Given the description of an element on the screen output the (x, y) to click on. 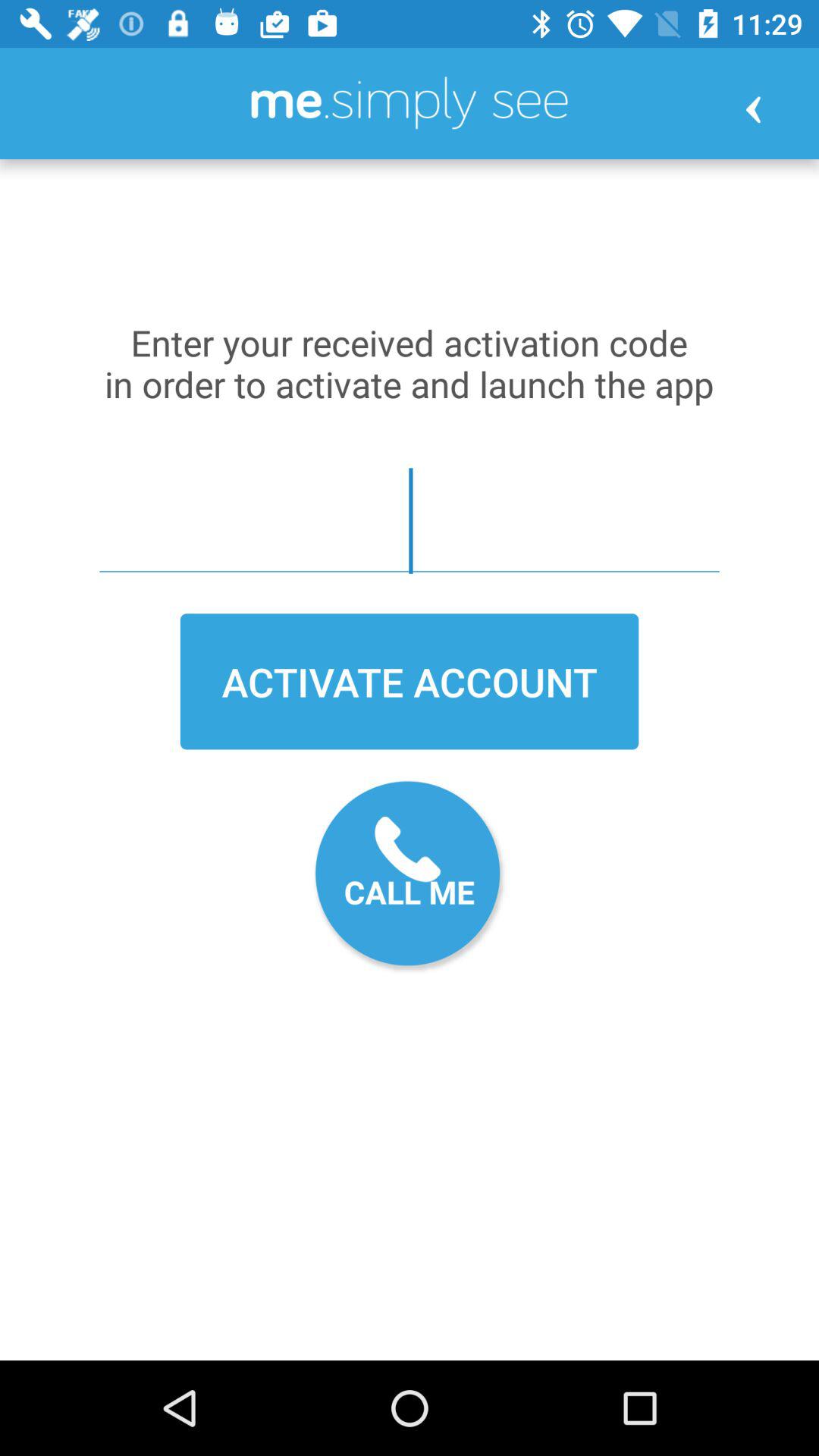
click the icon below activate account item (409, 876)
